Given the description of an element on the screen output the (x, y) to click on. 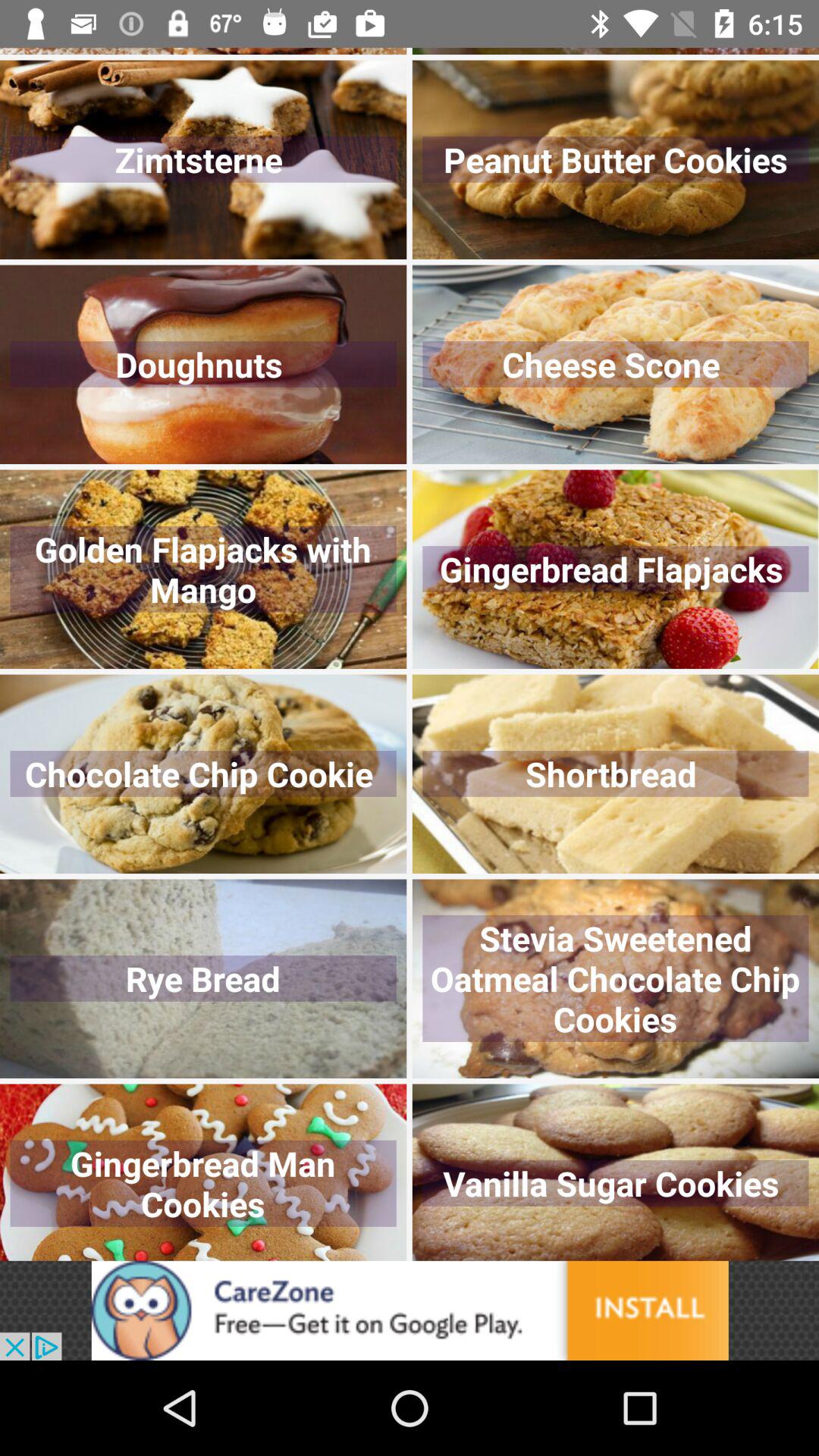
go to advertisement (409, 1310)
